Given the description of an element on the screen output the (x, y) to click on. 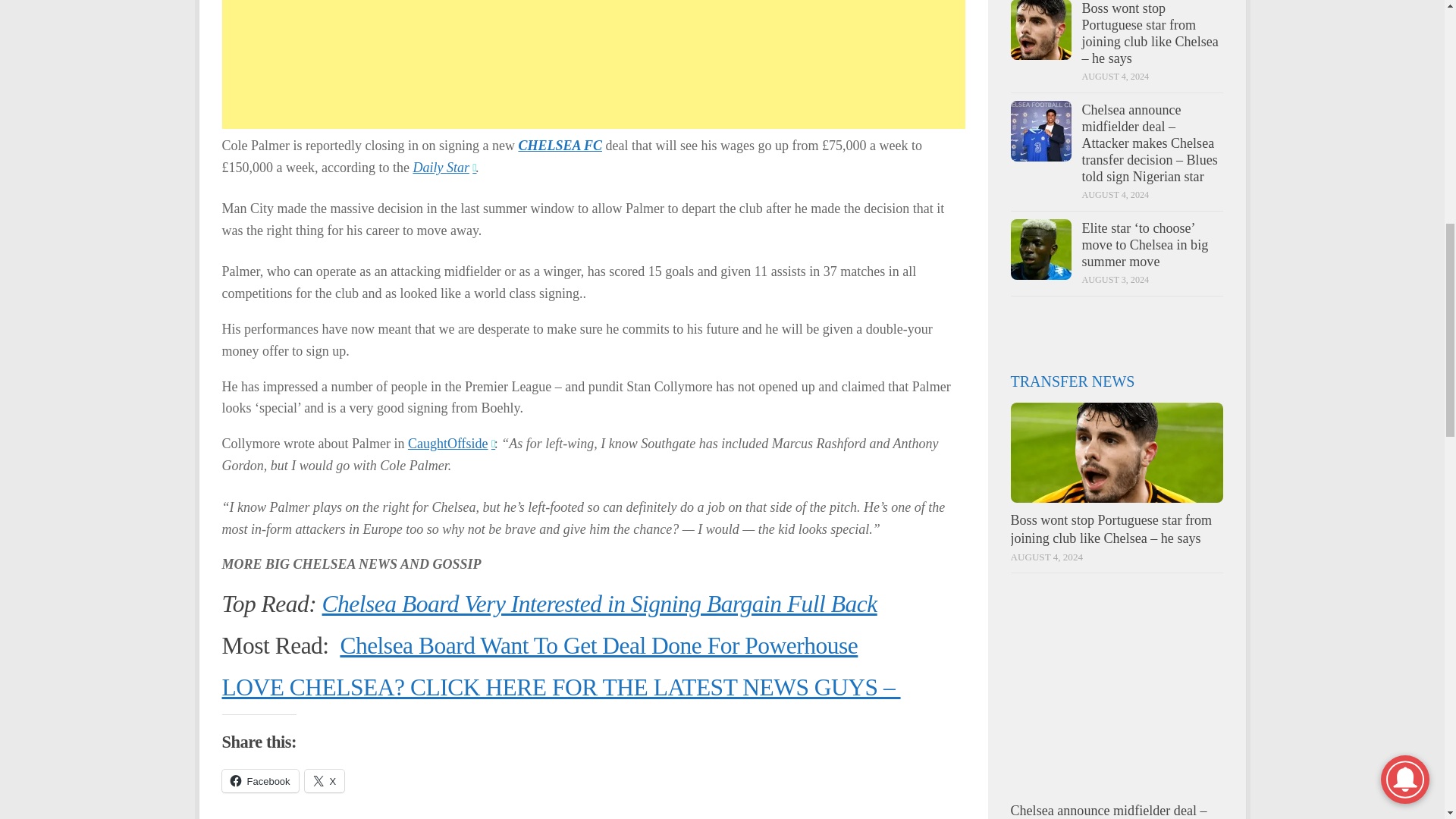
Click to share on Facebook (259, 780)
Facebook (259, 780)
X (324, 780)
Advertisement (592, 64)
Chelsea Board Very Interested in Signing Bargain Full Back (599, 603)
CaughtOffside (451, 443)
CHELSEA FC (560, 145)
Chelsea Board Want To Get Deal Done For Powerhouse (598, 645)
Daily Star (444, 167)
Click to share on X (324, 780)
